Given the description of an element on the screen output the (x, y) to click on. 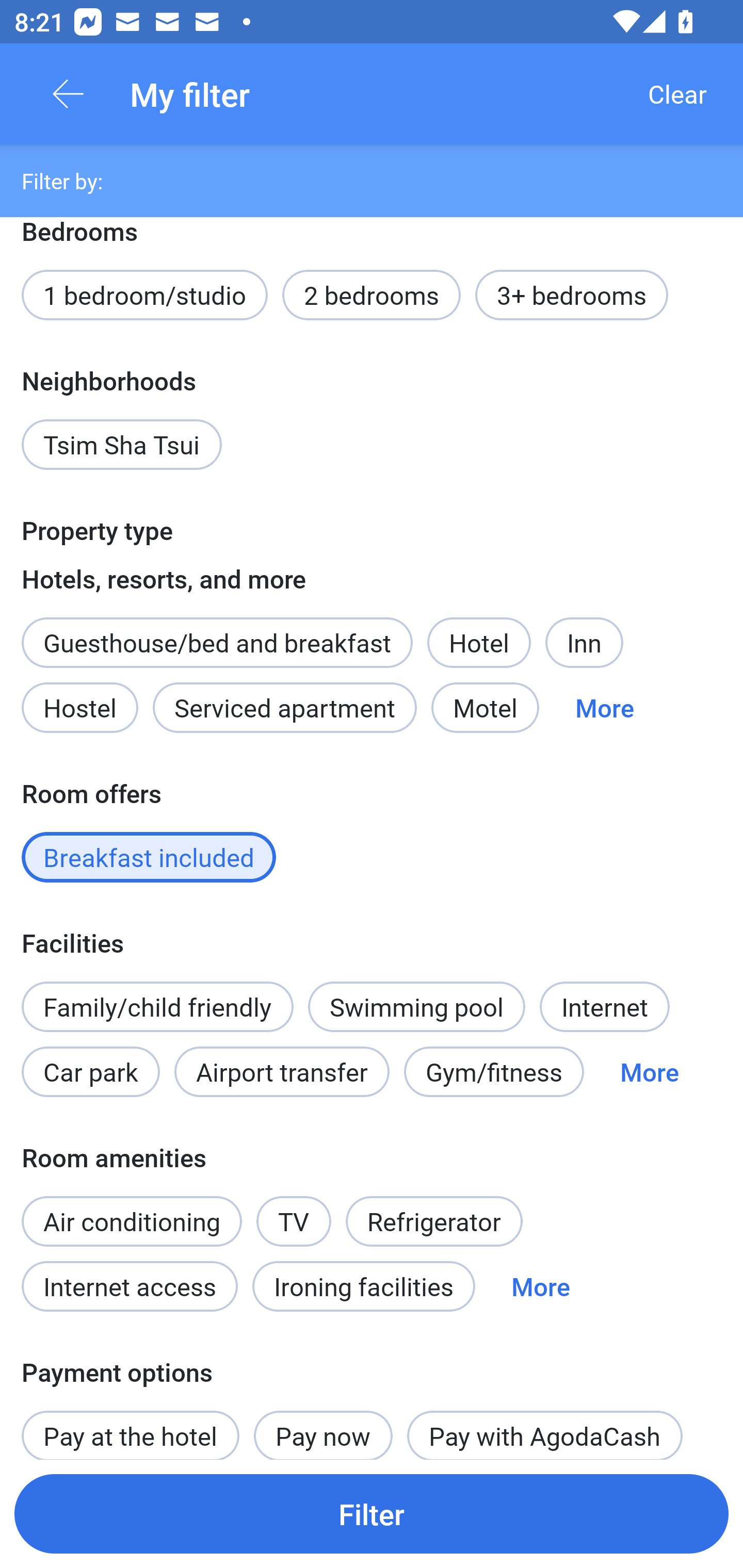
Clear (676, 93)
1 bedroom/studio (144, 295)
2 bedrooms (371, 295)
3+ bedrooms (571, 295)
Tsim Sha Tsui (121, 444)
Guesthouse/bed and breakfast (217, 642)
Hotel (479, 642)
Inn (583, 642)
Hostel (79, 707)
Serviced apartment (284, 707)
Motel (485, 707)
More (604, 707)
Family/child friendly (157, 1006)
Swimming pool (416, 1006)
Internet (604, 1006)
Car park (90, 1071)
Airport transfer (281, 1071)
Gym/fitness (493, 1071)
More (649, 1071)
Air conditioning (131, 1221)
TV (294, 1221)
Refrigerator (433, 1221)
Internet access (129, 1286)
Ironing facilities (363, 1286)
More (540, 1286)
Pay at the hotel (130, 1425)
Pay now (323, 1425)
Pay with AgodaCash (544, 1425)
Filter (371, 1513)
